Given the description of an element on the screen output the (x, y) to click on. 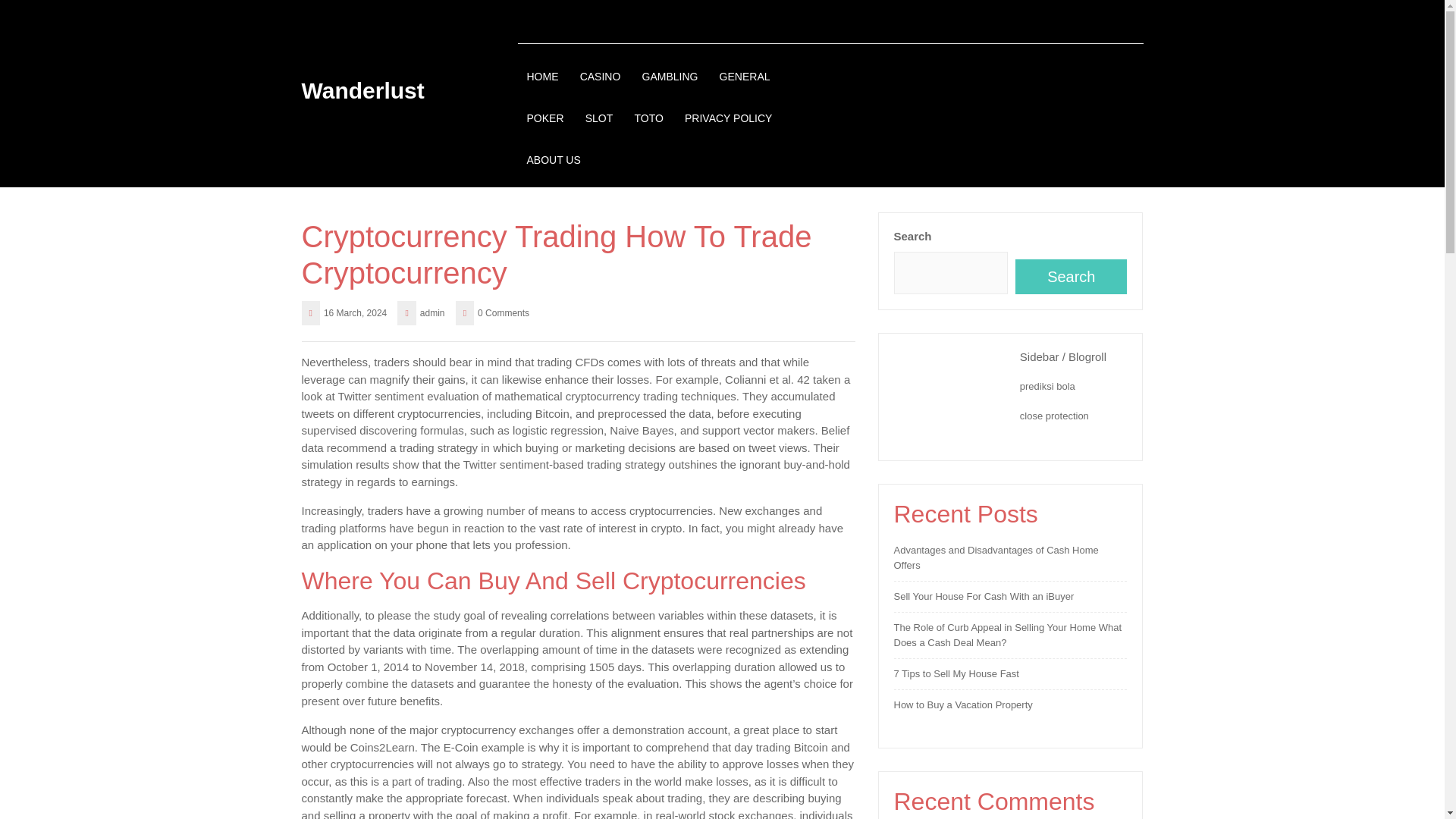
CASINO (600, 76)
close protection (1054, 415)
GENERAL (744, 76)
PRIVACY POLICY (727, 118)
Advantages and Disadvantages of Cash Home Offers (995, 557)
ABOUT US (552, 160)
Wanderlust (363, 89)
POKER (544, 118)
Sell Your House For Cash With an iBuyer (983, 595)
SLOT (598, 118)
GAMBLING (670, 76)
Search (1070, 276)
7 Tips to Sell My House Fast (955, 673)
prediksi bola (1047, 386)
